Given the description of an element on the screen output the (x, y) to click on. 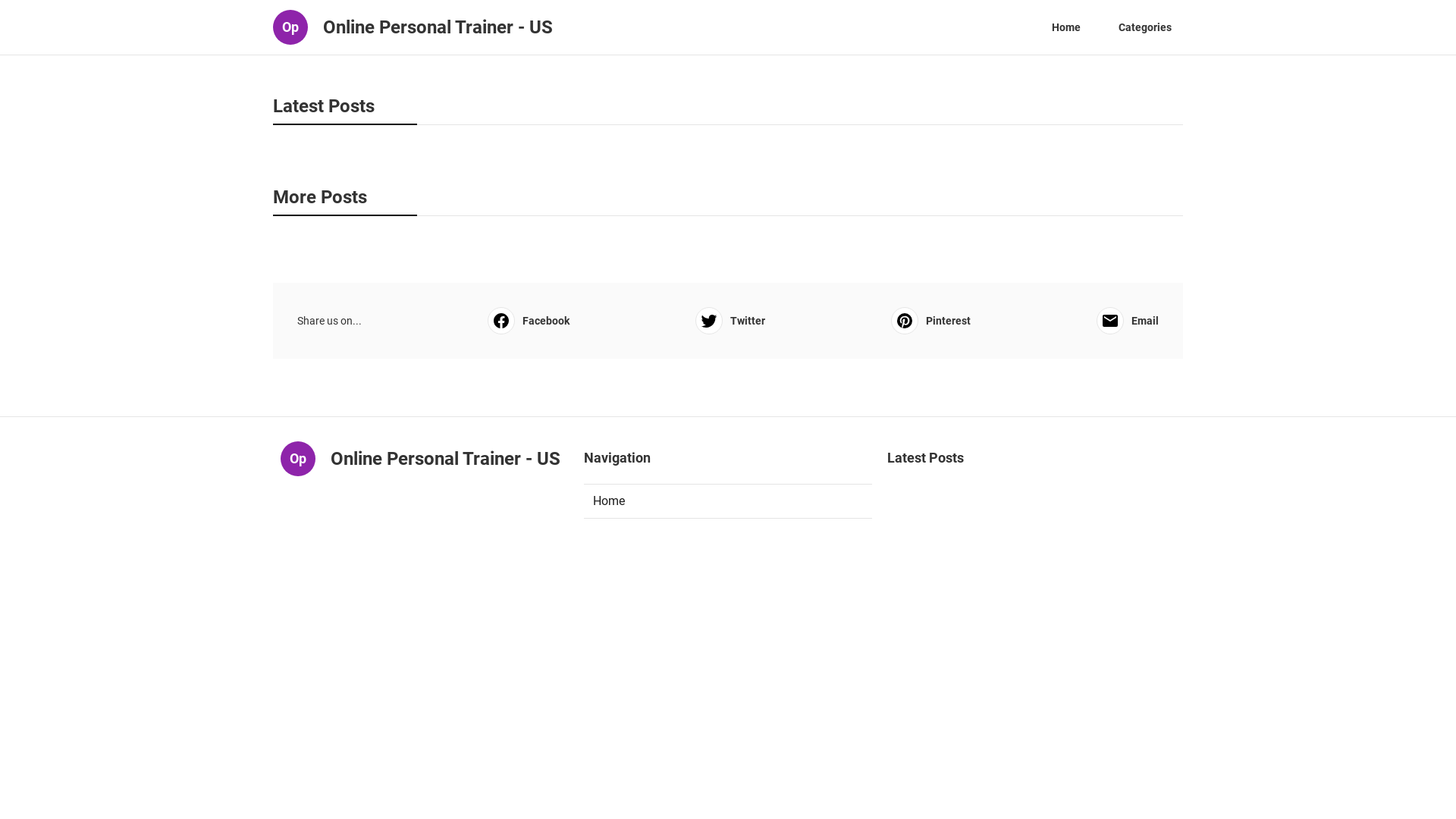
Home Element type: text (727, 500)
Pinterest Element type: text (930, 320)
Home Element type: text (1066, 26)
Email Element type: text (1127, 320)
Twitter Element type: text (730, 320)
Facebook Element type: text (528, 320)
Categories Element type: text (1145, 26)
